Given the description of an element on the screen output the (x, y) to click on. 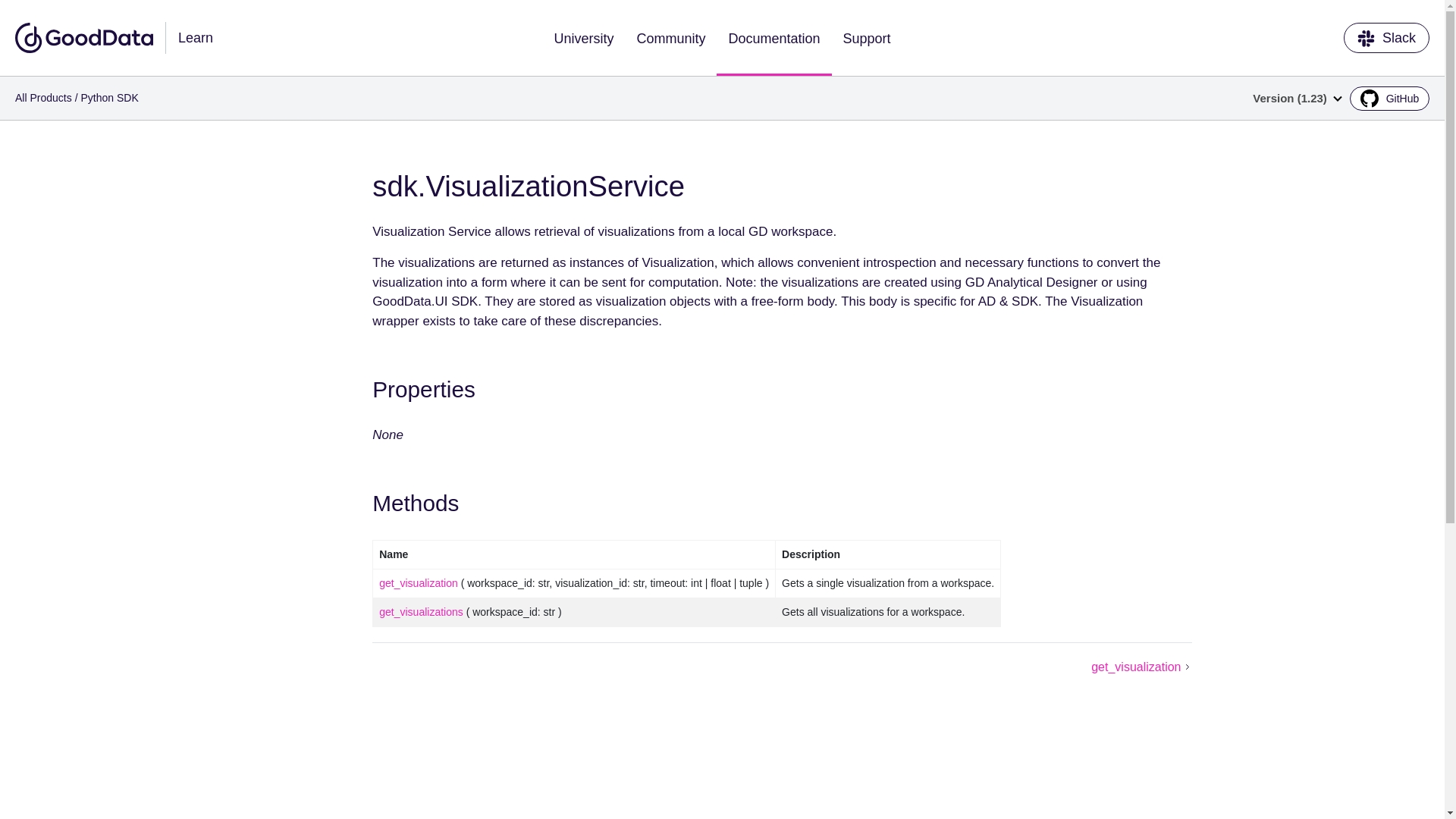
Slack (1386, 37)
Community (670, 37)
All Products (42, 97)
Support (866, 37)
GitHub (1389, 98)
University (582, 37)
Documentation (773, 37)
